Given the description of an element on the screen output the (x, y) to click on. 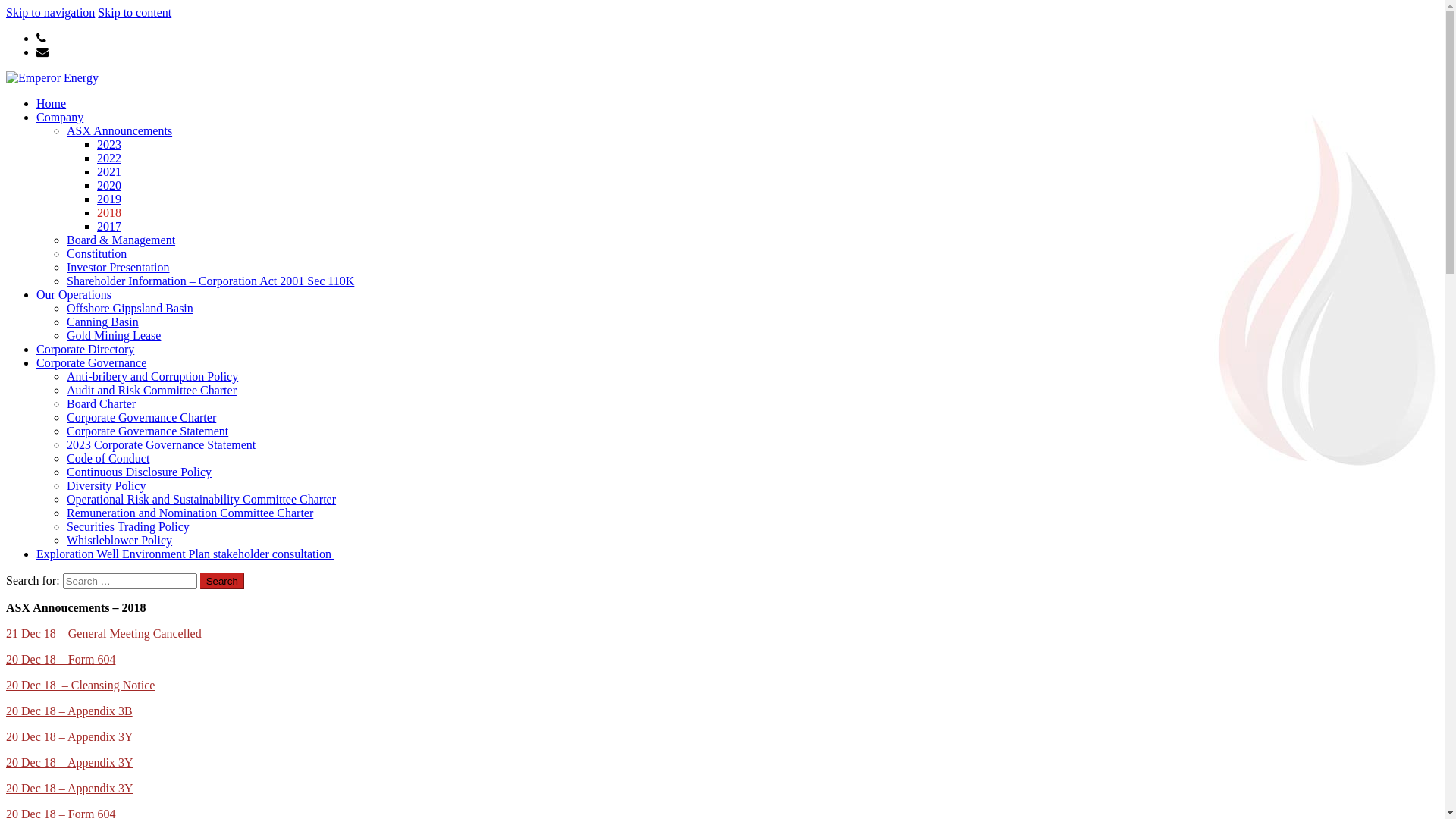
Skip to navigation Element type: text (50, 12)
2021 Element type: text (109, 171)
Canning Basin Element type: text (102, 321)
Diversity Policy Element type: text (105, 485)
2020 Element type: text (109, 184)
2018 Element type: text (109, 212)
Offshore Gippsland Basin Element type: text (129, 307)
Board Charter Element type: text (100, 403)
2019 Element type: text (109, 198)
Operational Risk and Sustainability Committee Charter Element type: text (200, 498)
Anti-bribery and Corruption Policy Element type: text (152, 376)
ASX Announcements Element type: text (119, 130)
Whistleblower Policy Element type: text (119, 539)
2023 Element type: text (109, 144)
Securities Trading Policy Element type: text (127, 526)
Code of Conduct Element type: text (107, 457)
Gold Mining Lease Element type: text (113, 335)
Home Element type: text (50, 103)
Investor Presentation Element type: text (117, 266)
2023 Corporate Governance Statement Element type: text (160, 444)
Skip to content Element type: text (134, 12)
Audit and Risk Committee Charter Element type: text (151, 389)
Exploration Well Environment Plan stakeholder consultation  Element type: text (185, 553)
2022 Element type: text (109, 157)
Corporate Governance Charter Element type: text (141, 417)
Search Element type: text (222, 581)
Our Operations Element type: text (73, 294)
Continuous Disclosure Policy Element type: text (138, 471)
Remuneration and Nomination Committee Charter Element type: text (189, 512)
Board & Management Element type: text (120, 239)
Corporate Governance Statement Element type: text (147, 430)
Emperor Energy Element type: text (93, 114)
2017 Element type: text (109, 225)
Corporate Directory Element type: text (85, 348)
Constitution Element type: text (96, 253)
Corporate Governance Element type: text (91, 362)
Company Element type: text (59, 116)
